Given the description of an element on the screen output the (x, y) to click on. 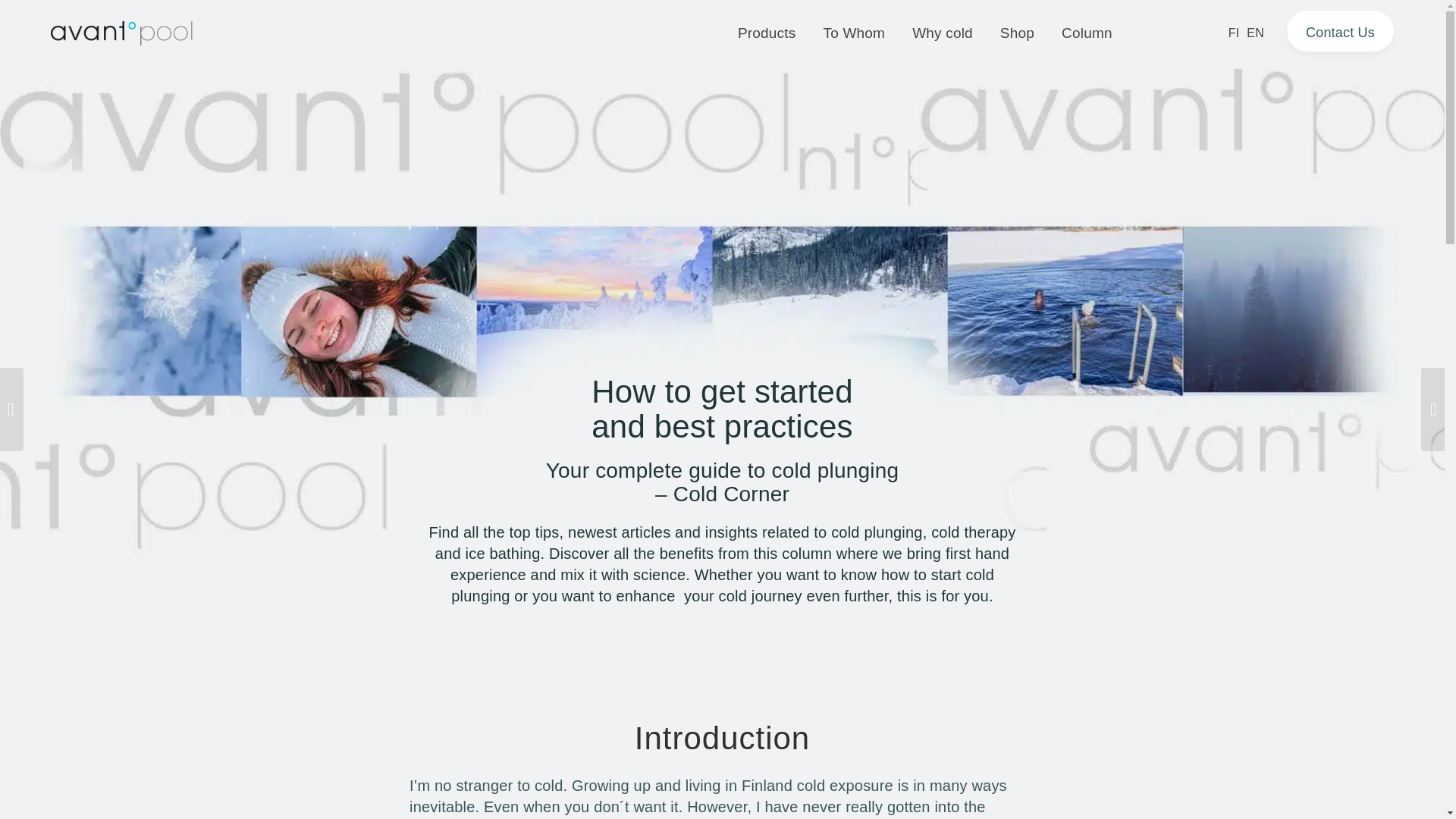
Shop (1017, 33)
To Whom (853, 33)
Contact Us (1340, 30)
Why cold (942, 33)
Products (766, 33)
Column (1086, 33)
